Given the description of an element on the screen output the (x, y) to click on. 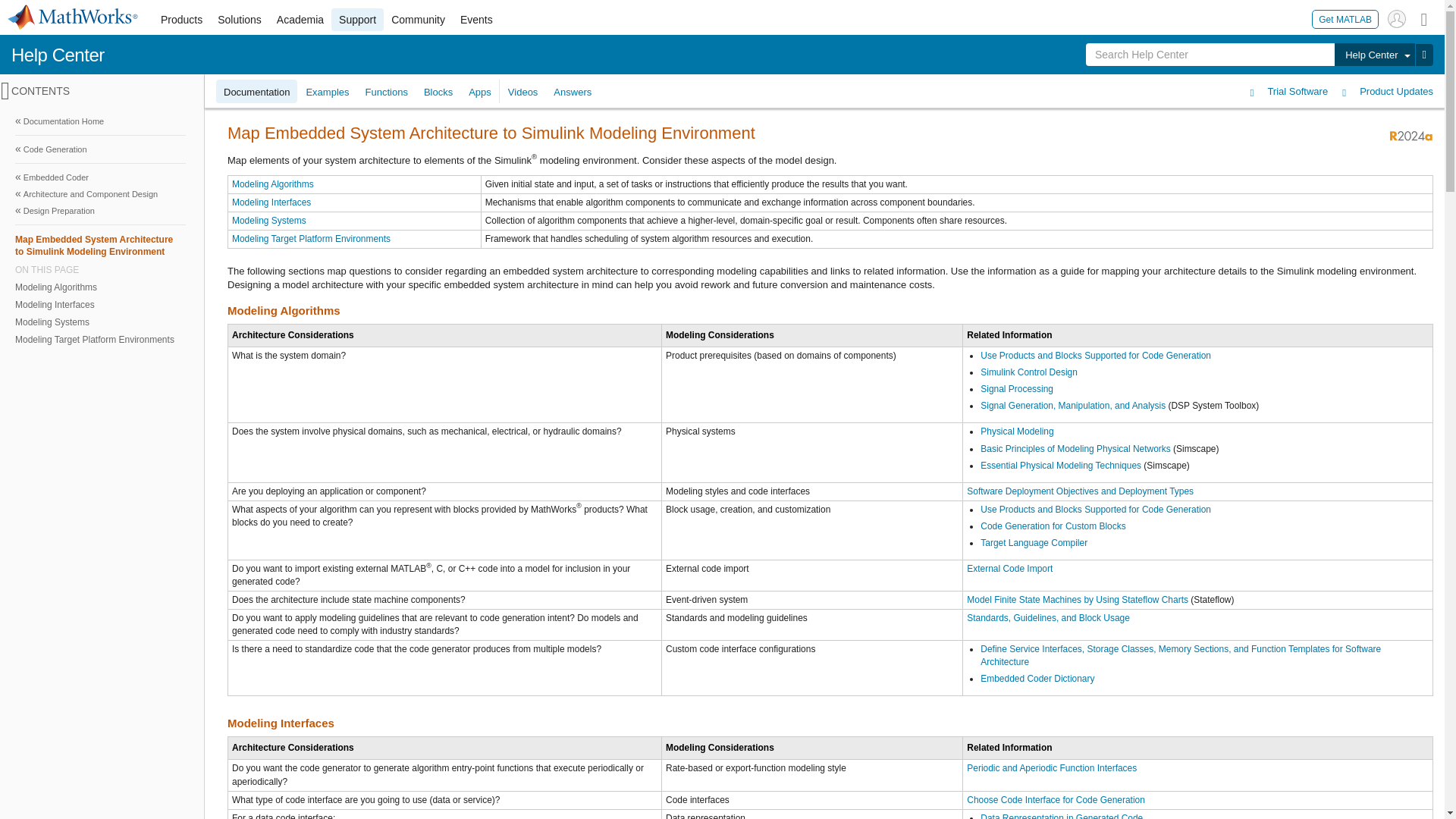
ON THIS PAGE (100, 269)
Community (418, 19)
Get MATLAB (1344, 18)
Academia (300, 19)
Events (476, 19)
Solutions (239, 19)
Sign In to Your MathWorks Account (1396, 18)
Products (180, 19)
Matrix Menu (1423, 18)
